Given the description of an element on the screen output the (x, y) to click on. 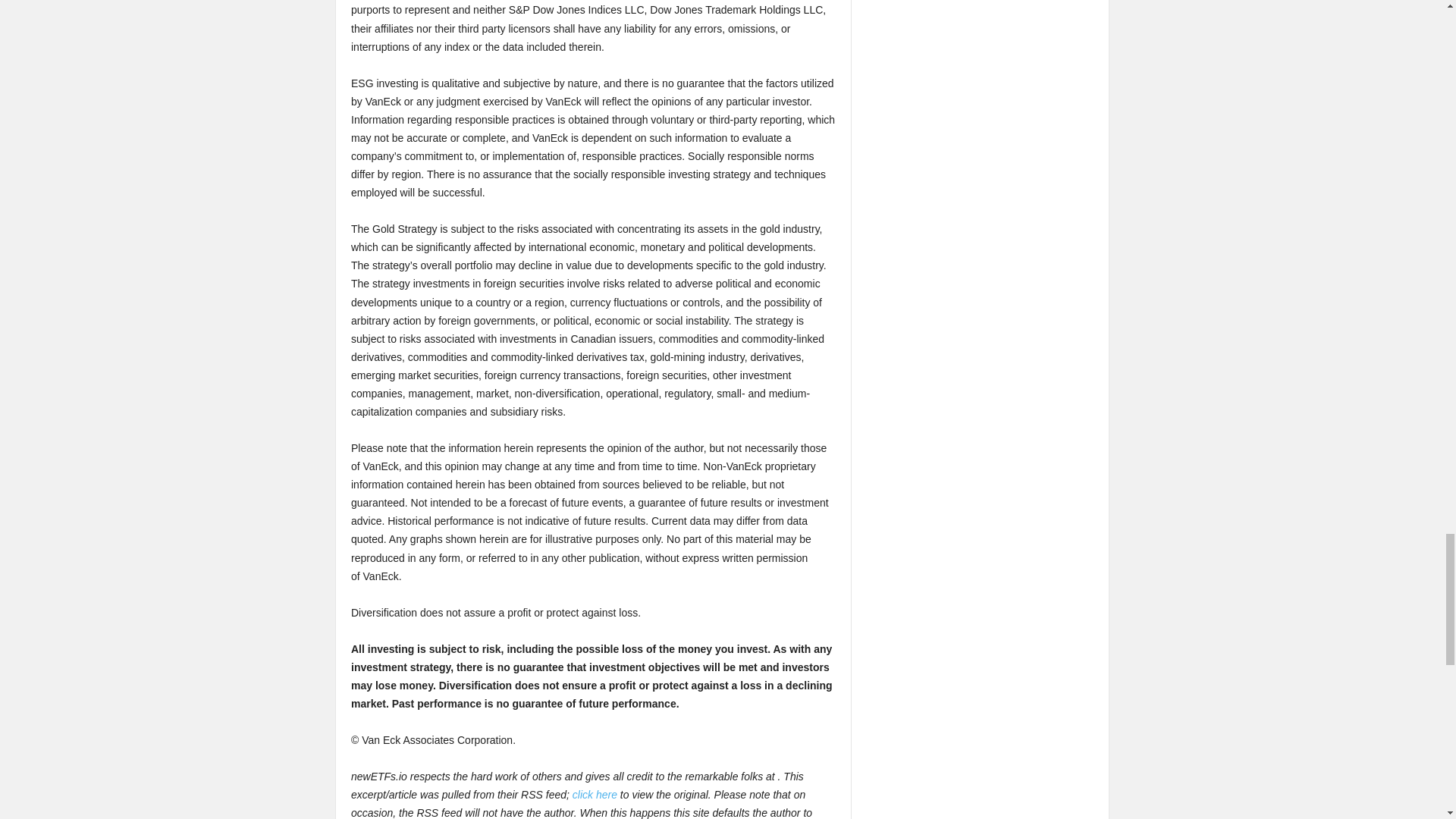
click here (594, 794)
